Given the description of an element on the screen output the (x, y) to click on. 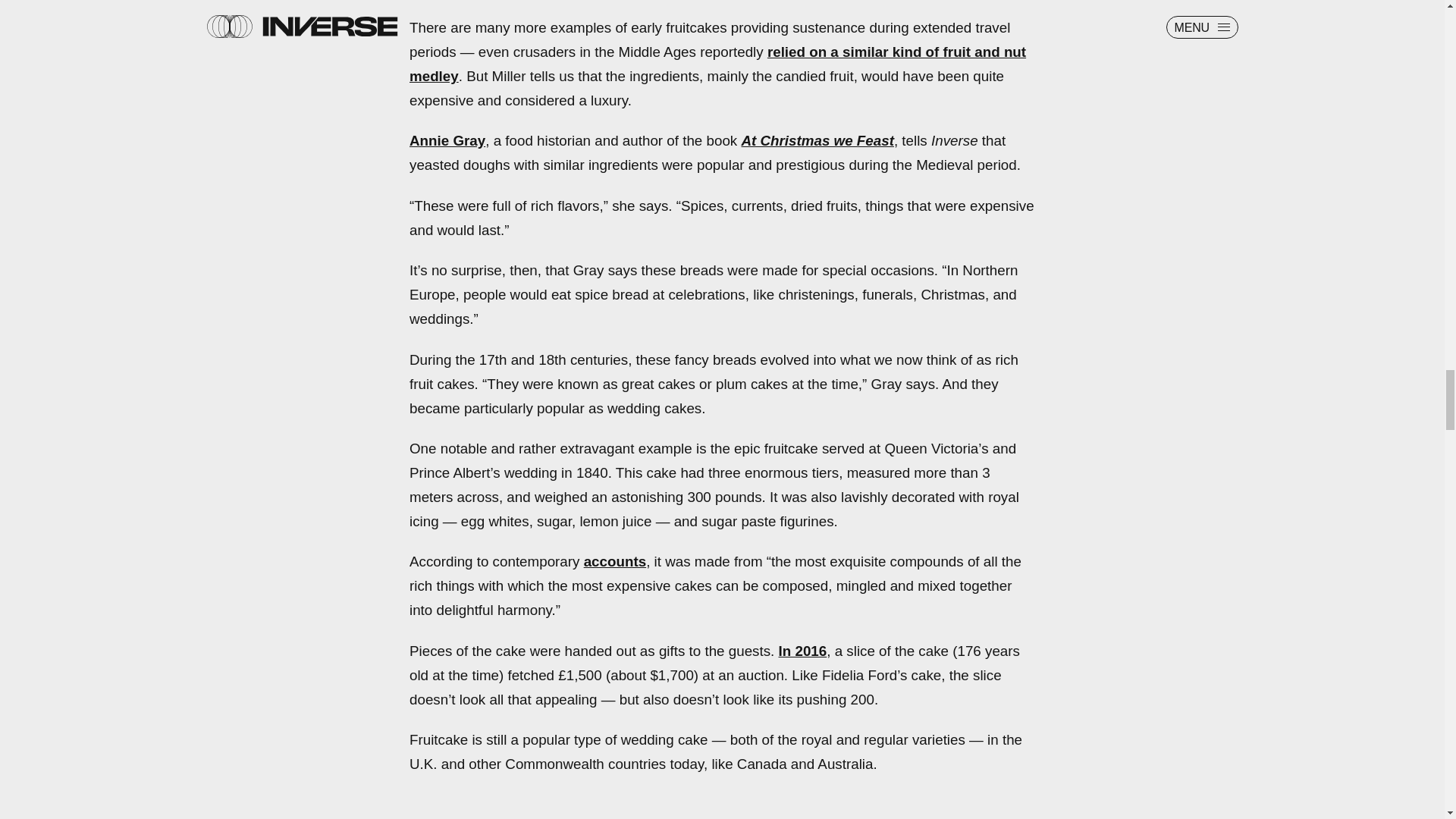
accounts (614, 561)
Annie Gray (446, 140)
relied on a similar kind of fruit and nut medley (717, 64)
At Christmas we Feast (817, 140)
In 2016 (802, 650)
